Given the description of an element on the screen output the (x, y) to click on. 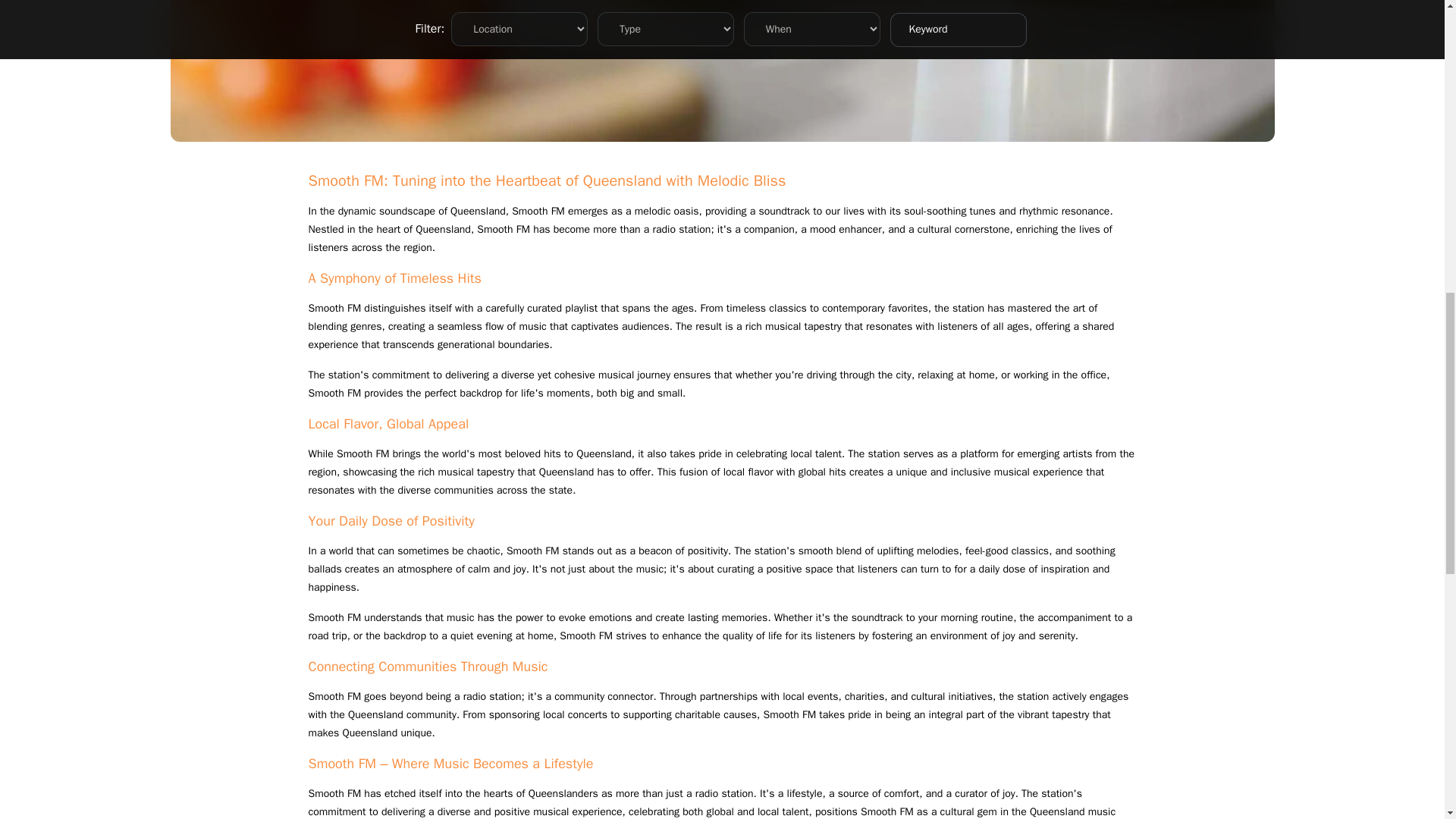
Smooth FM (538, 210)
